Given the description of an element on the screen output the (x, y) to click on. 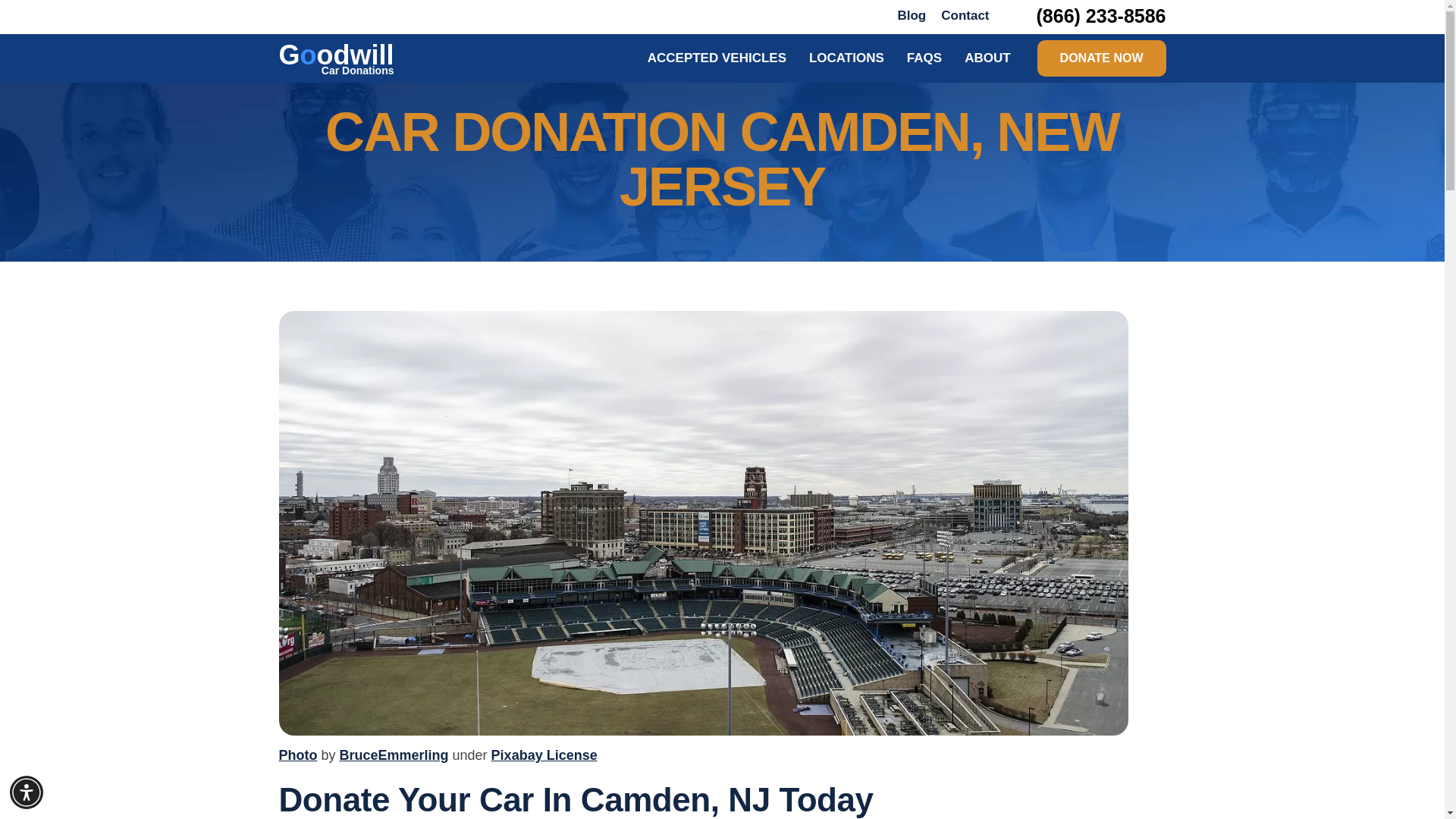
Accessibility Menu (26, 792)
ACCEPTED VEHICLES (716, 57)
Photo (298, 754)
DONATE NOW (1101, 58)
BruceEmmerling (393, 754)
Contact (964, 15)
FAQS (336, 57)
ABOUT (924, 57)
Pixabay License (986, 57)
Blog (544, 754)
LOCATIONS (911, 15)
